Given the description of an element on the screen output the (x, y) to click on. 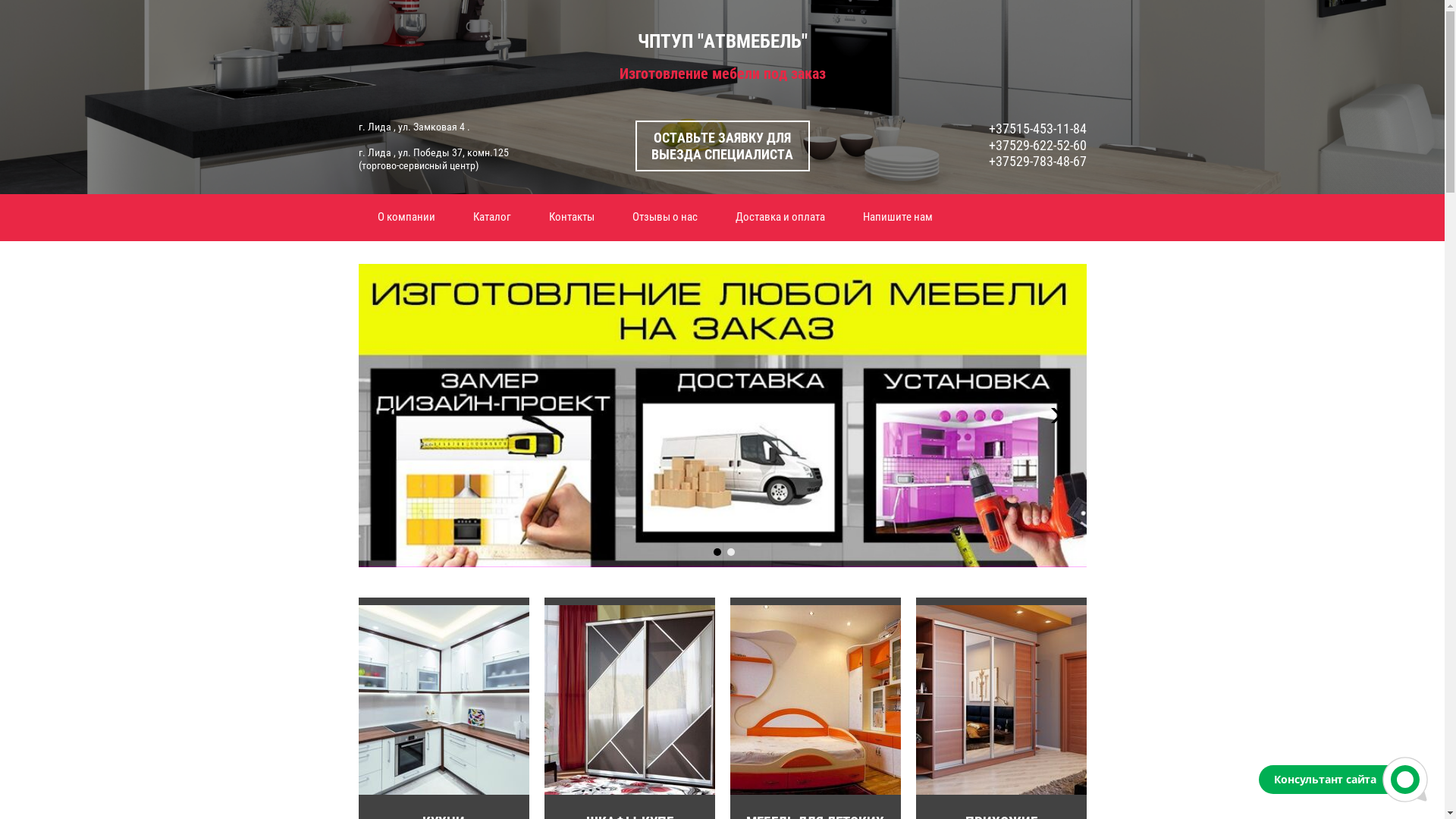
+37515-453-11-84 Element type: text (1037, 128)
+37529-783-48-67 Element type: text (1037, 161)
+37529-622-52-60 Element type: text (1037, 145)
